Given the description of an element on the screen output the (x, y) to click on. 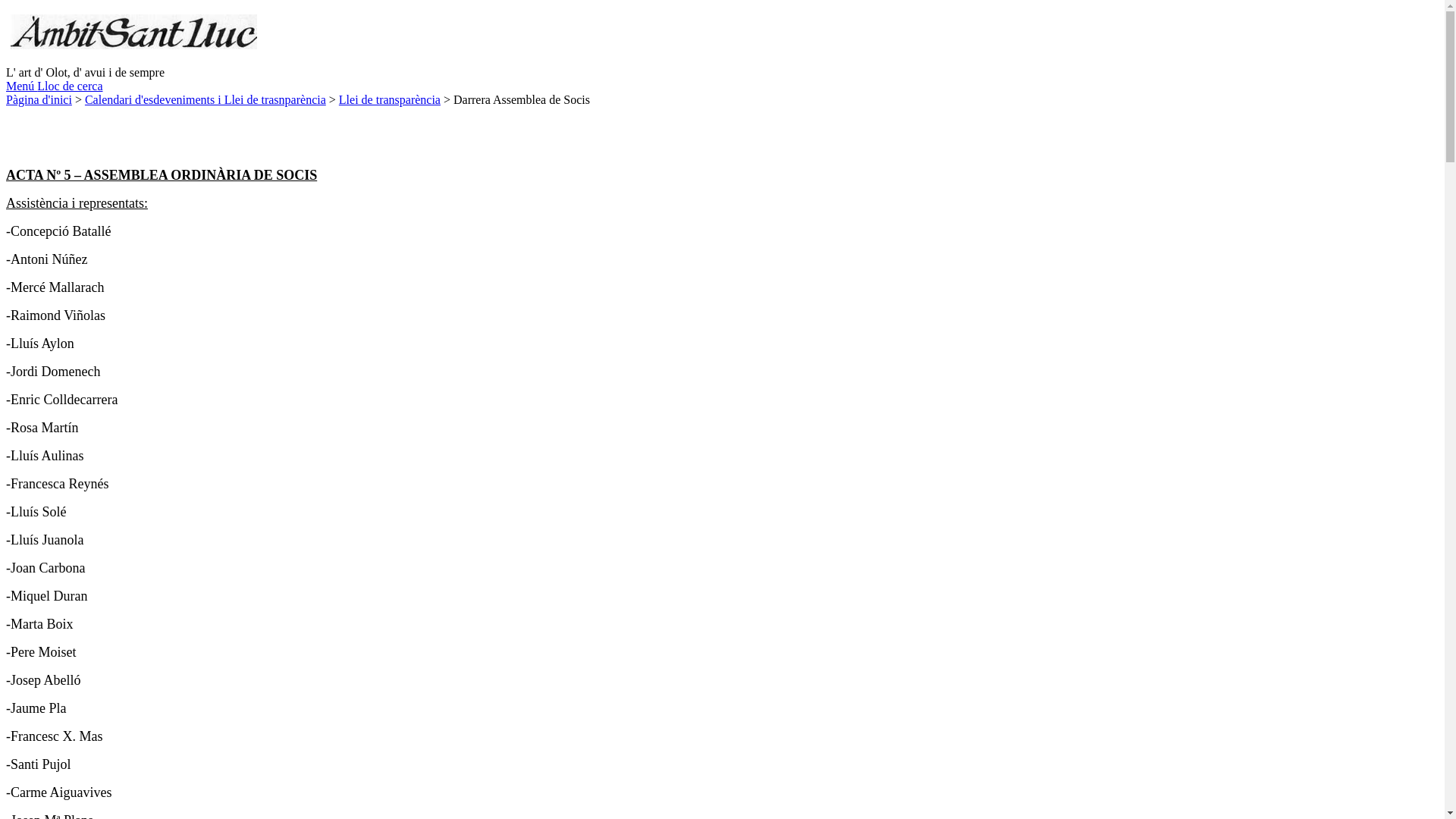
Lloc de cerca Element type: text (69, 85)
